Given the description of an element on the screen output the (x, y) to click on. 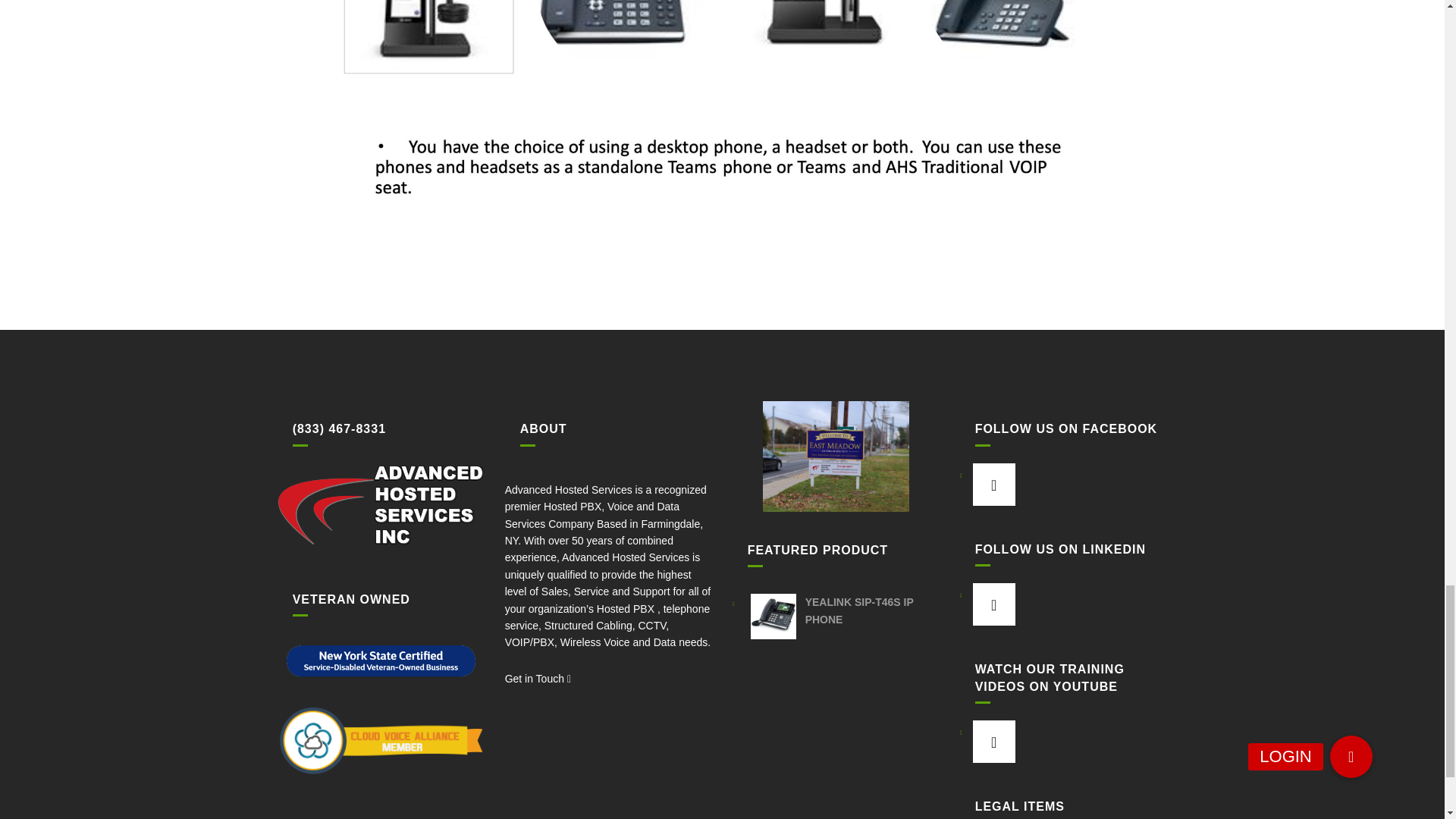
YEALINK SIP-T46S IP PHONE (836, 610)
Get in Touch (537, 678)
